Given the description of an element on the screen output the (x, y) to click on. 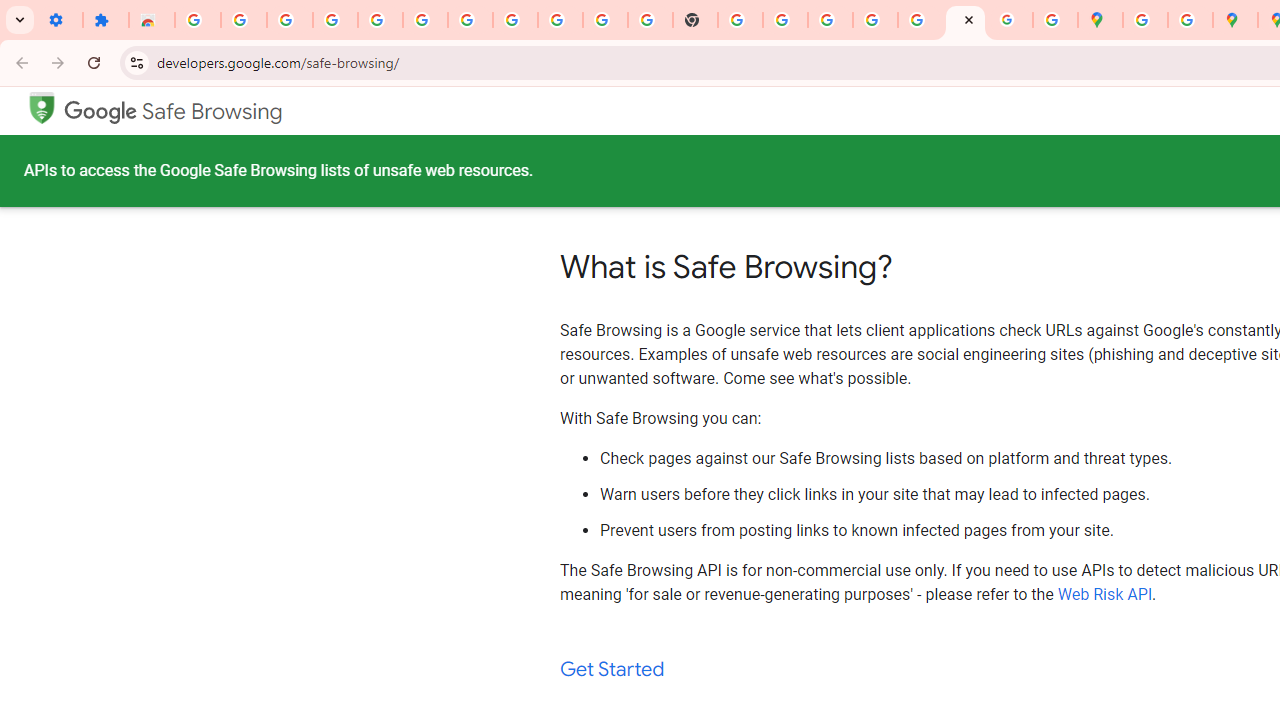
Learn how to find your photos - Google Photos Help (380, 20)
Google Safe Browsing (41, 106)
Google Maps (1099, 20)
Safety in Our Products - Google Safety Center (1190, 20)
Sign in - Google Accounts (470, 20)
Delete photos & videos - Computer - Google Photos Help (335, 20)
https://scholar.google.com/ (740, 20)
